Given the description of an element on the screen output the (x, y) to click on. 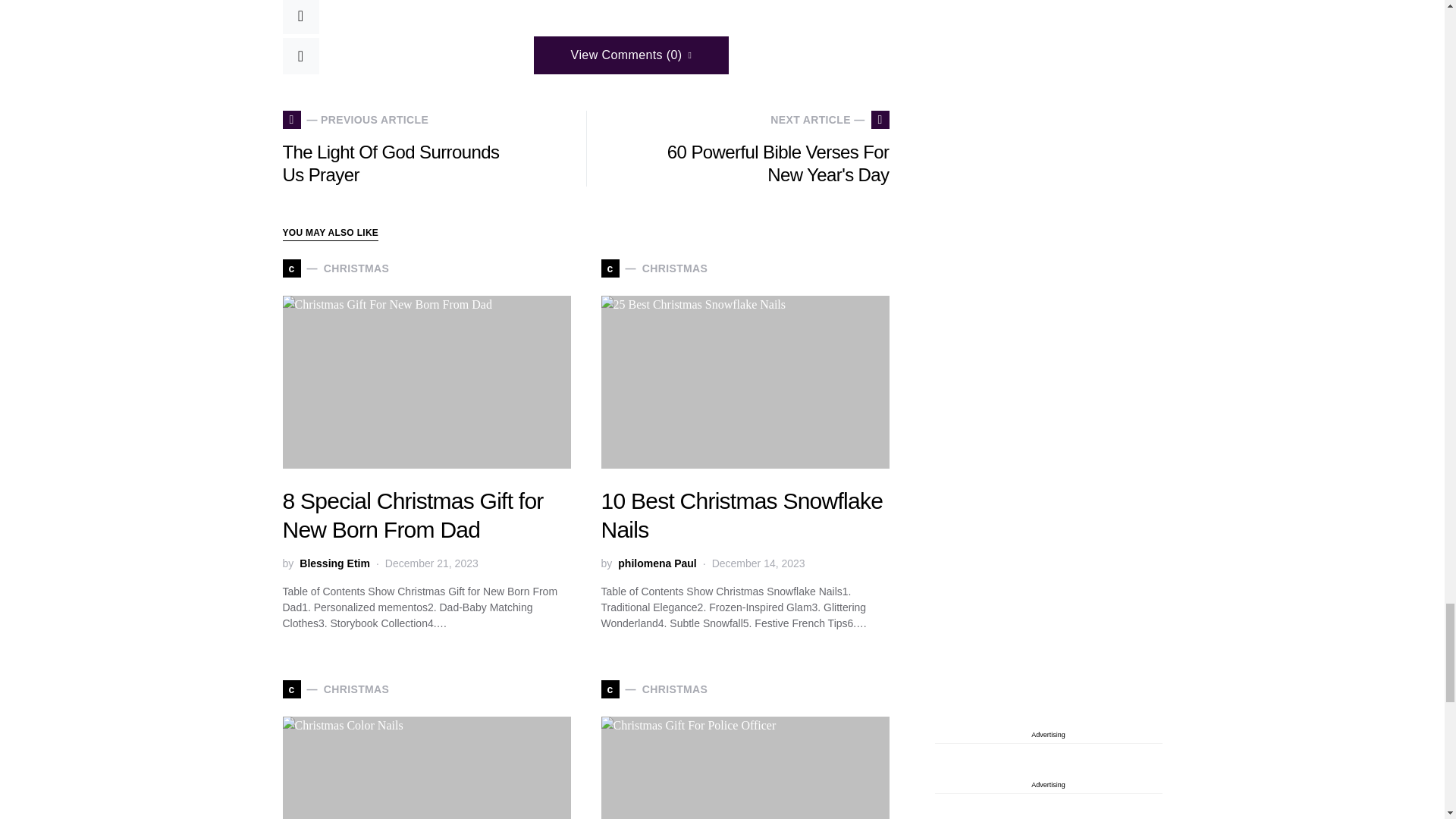
10 Best Christmas Snowflake Nails 19 (743, 381)
10 Christmas Gift For Police Officer 61 (743, 767)
10 Beautiful Christmas Color Nails 40 (426, 767)
8 Special Christmas Gift For New Born From Dad 2 (426, 381)
View all posts by philomena Paul (656, 563)
View all posts by Blessing Etim (334, 563)
